Given the description of an element on the screen output the (x, y) to click on. 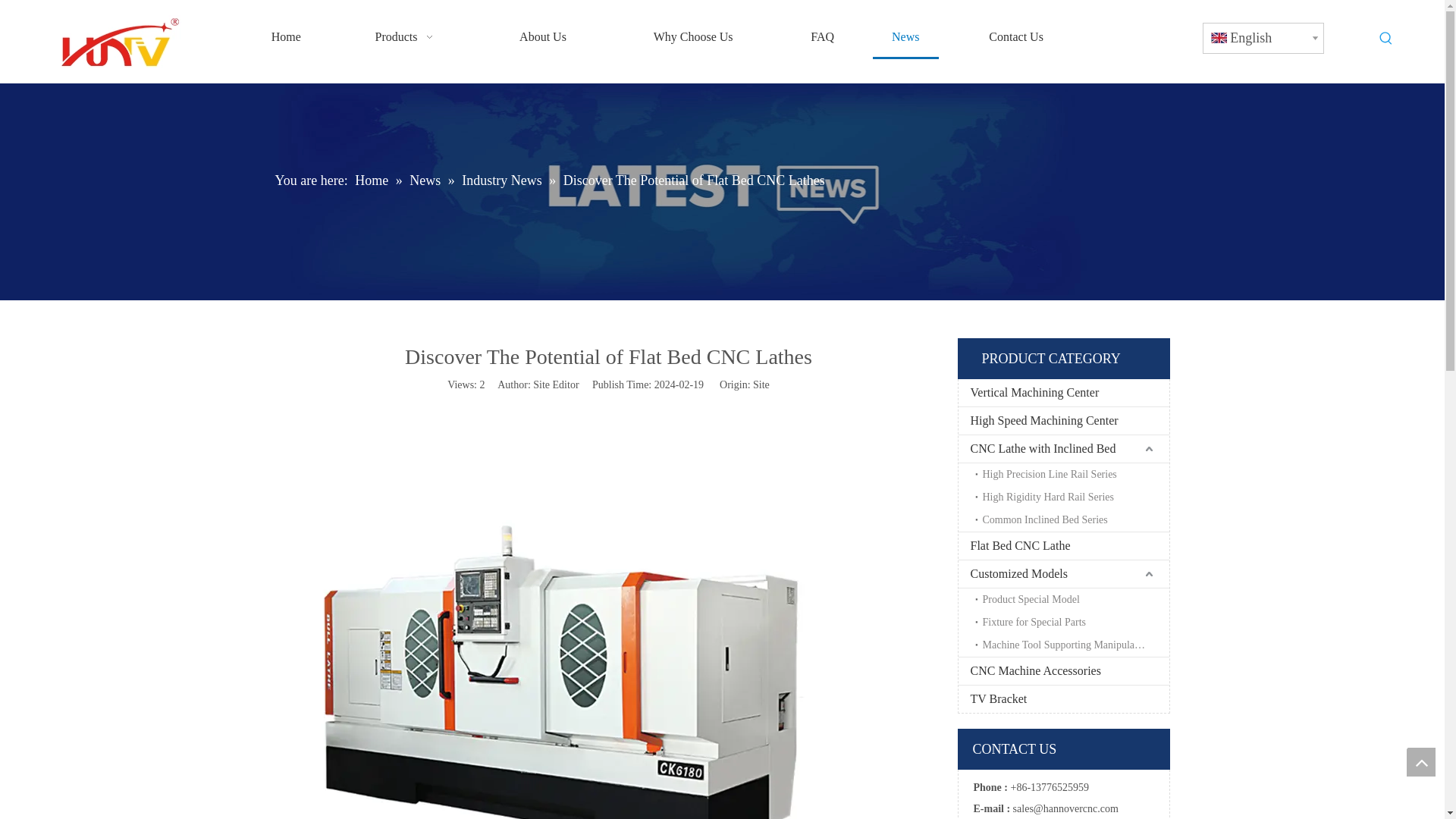
High Rigidity Hard Rail Series (1072, 497)
CNC Lathe with Inclined Bed (1063, 448)
Common Inclined Bed Series (1072, 519)
News (426, 180)
About Us (542, 36)
FAQ (822, 36)
Fixture for Special Parts (1072, 621)
High Speed Machining Center (1063, 420)
CNC Machine Accessories (1063, 670)
Industry News (502, 180)
